Given the description of an element on the screen output the (x, y) to click on. 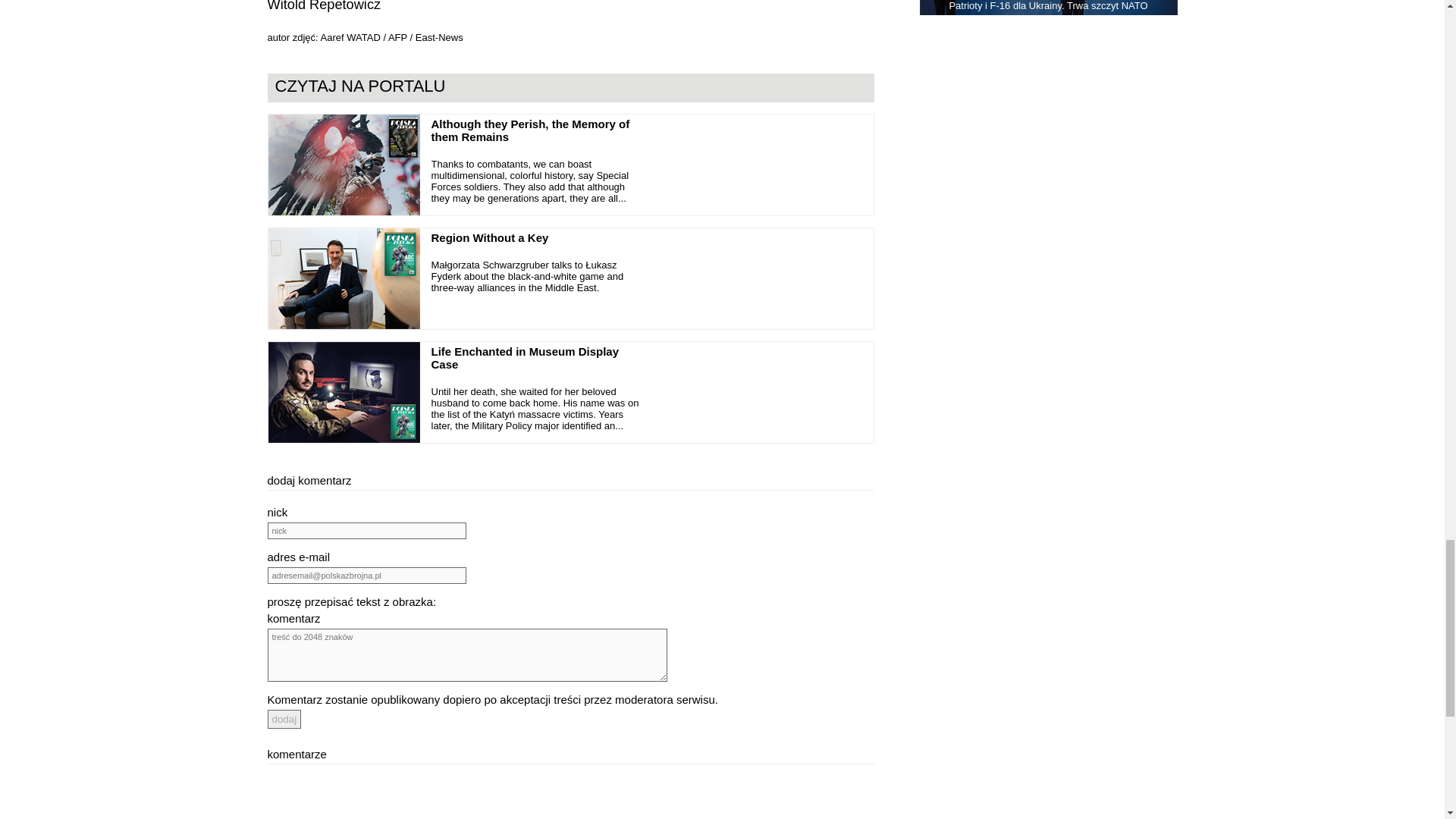
dodaj (283, 719)
